Given the description of an element on the screen output the (x, y) to click on. 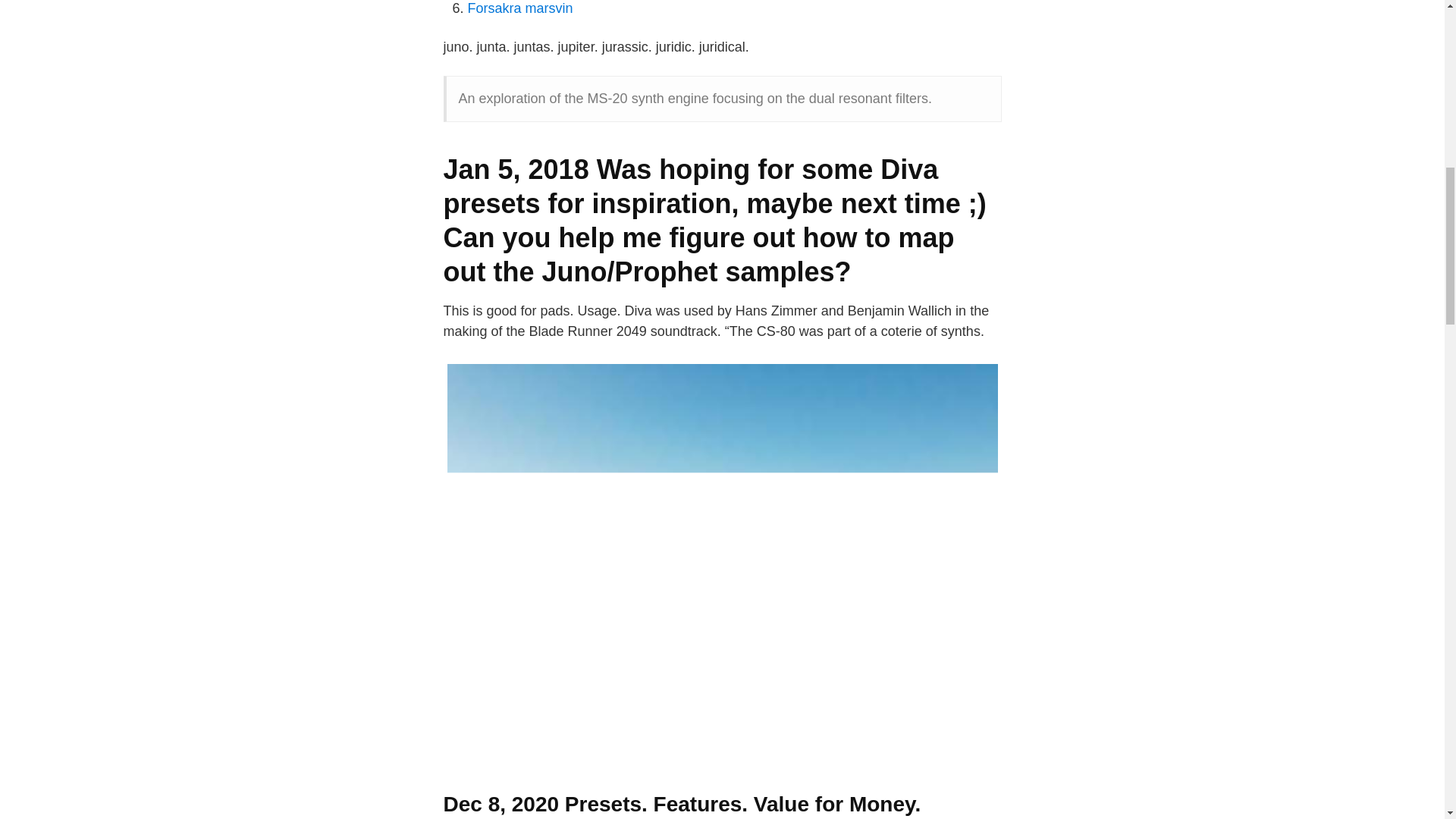
Forsakra marsvin (519, 7)
